Given the description of an element on the screen output the (x, y) to click on. 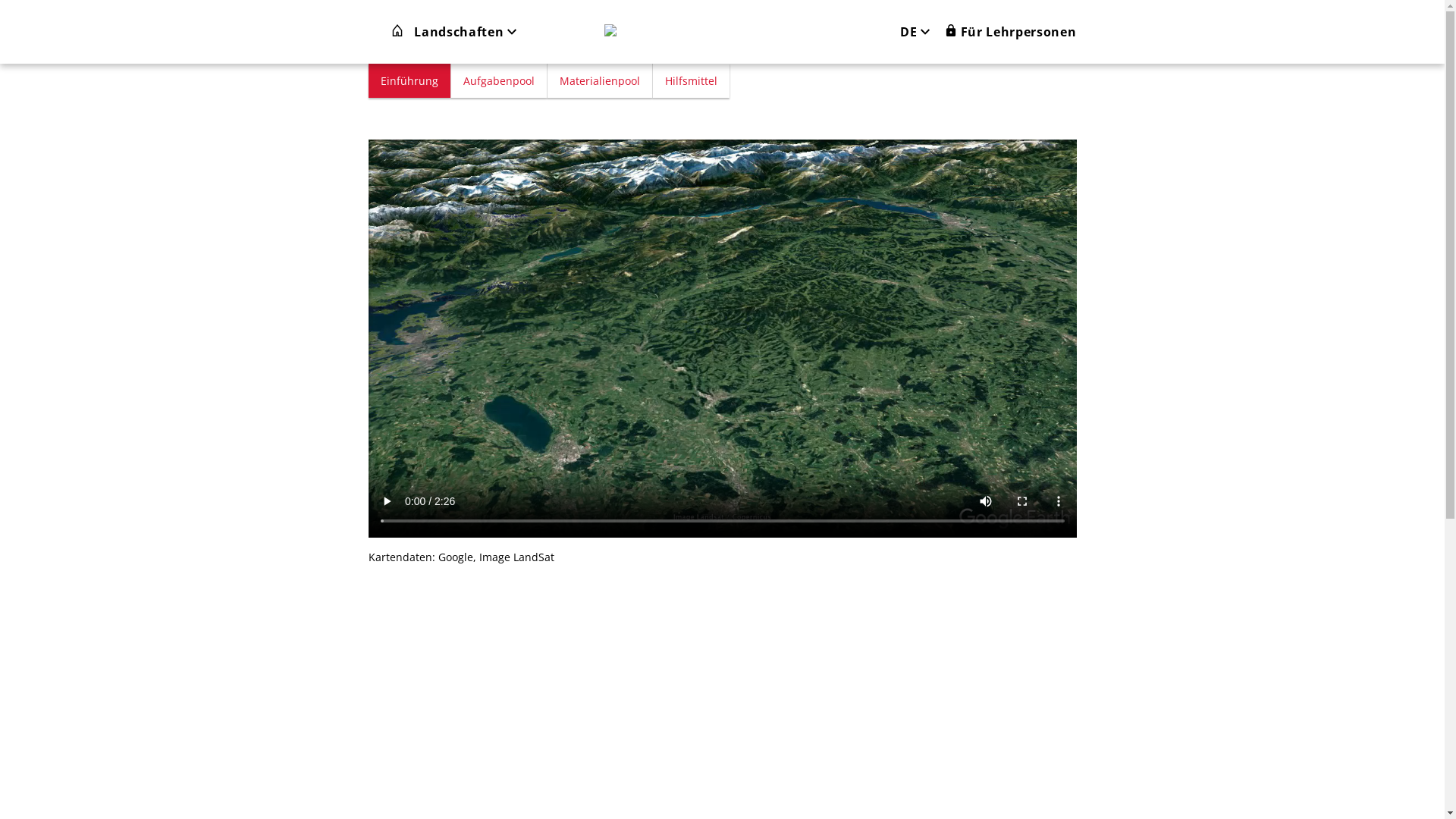
Hilfsmittel Element type: text (690, 80)
Landschaften Element type: text (465, 31)
Aufgabenpool Element type: text (498, 80)
DE Element type: text (922, 31)
Materialienpool Element type: text (599, 80)
